Given the description of an element on the screen output the (x, y) to click on. 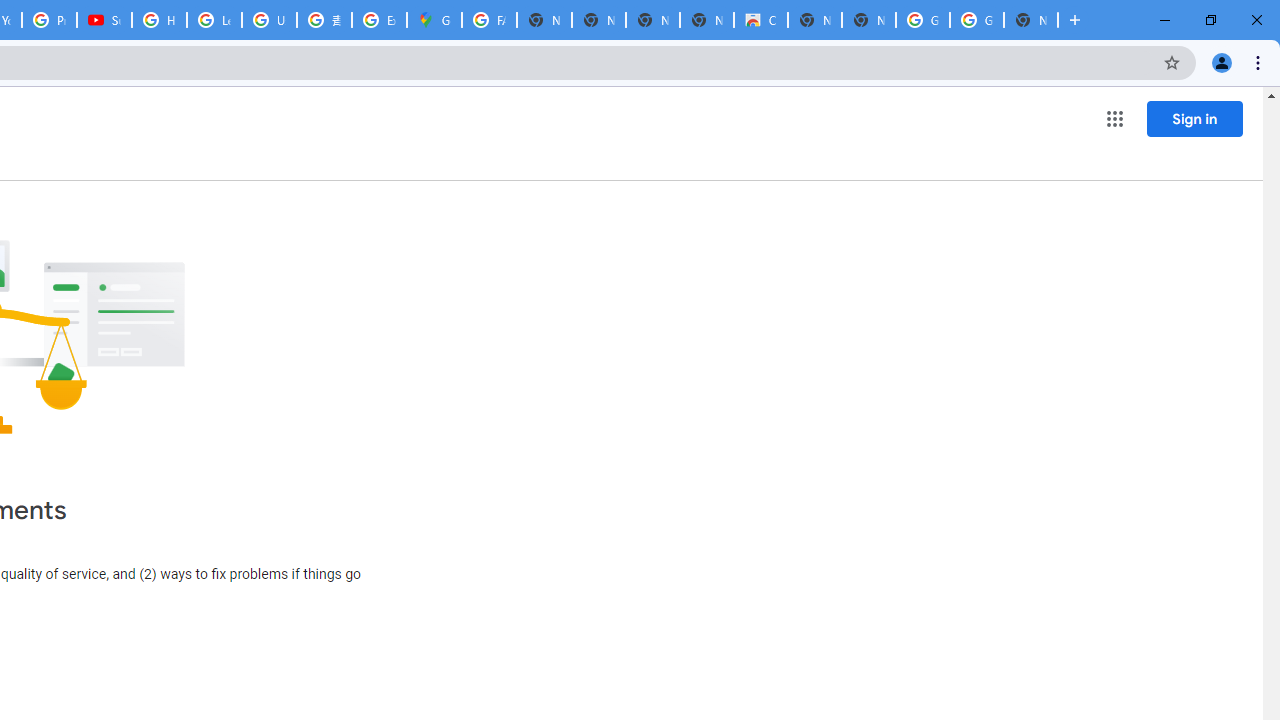
Sign in (1194, 118)
Explore new street-level details - Google Maps Help (379, 20)
Google apps (1114, 118)
Bookmark this tab (1171, 62)
Google Images (976, 20)
Google Maps (434, 20)
New Tab (1030, 20)
You (1221, 62)
Google Images (922, 20)
